Given the description of an element on the screen output the (x, y) to click on. 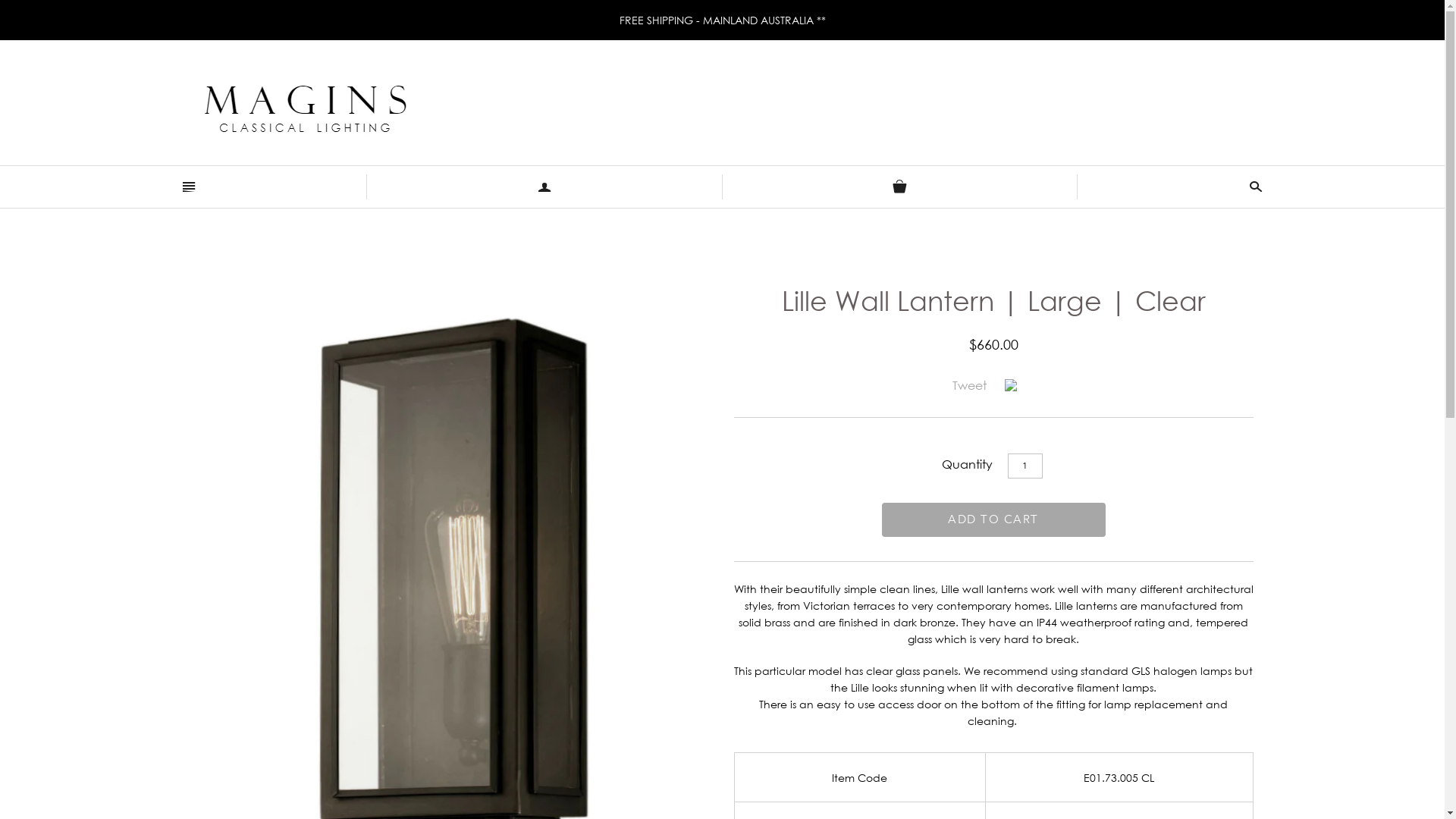
FREE SHIPPING - MAINLAND AUSTRALIA ** Element type: text (722, 20)
Add to cart Element type: text (992, 519)
Bag Icon Element type: text (899, 186)
Tweet Element type: text (969, 384)
a Element type: text (544, 186)
